Given the description of an element on the screen output the (x, y) to click on. 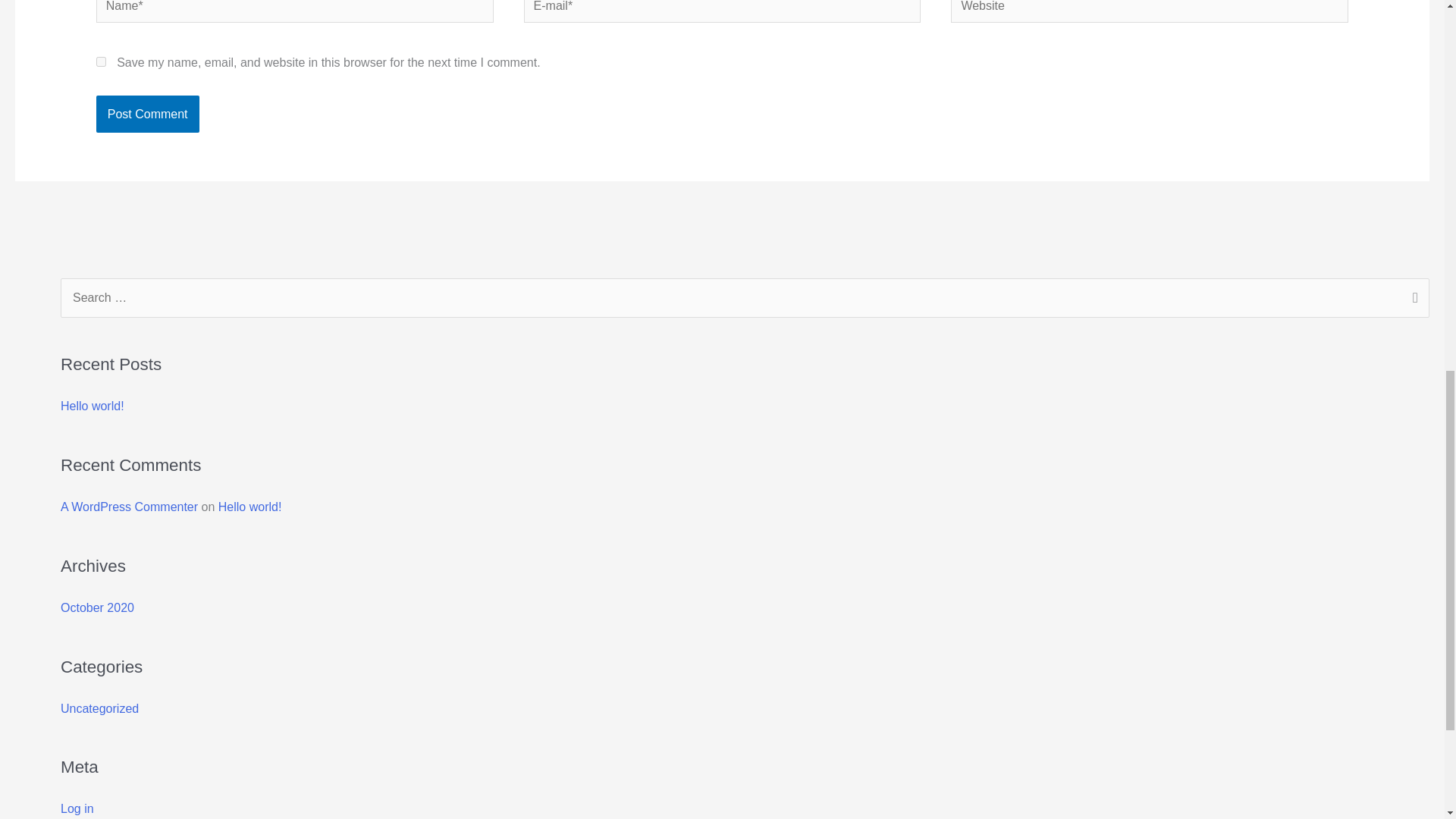
yes (101, 61)
Uncategorized (99, 707)
Search (1411, 299)
Post Comment (147, 114)
Search (1411, 299)
Search (1411, 299)
Hello world! (250, 506)
Log in (77, 808)
October 2020 (97, 607)
Hello world! (92, 405)
A WordPress Commenter (129, 506)
Post Comment (147, 114)
